Given the description of an element on the screen output the (x, y) to click on. 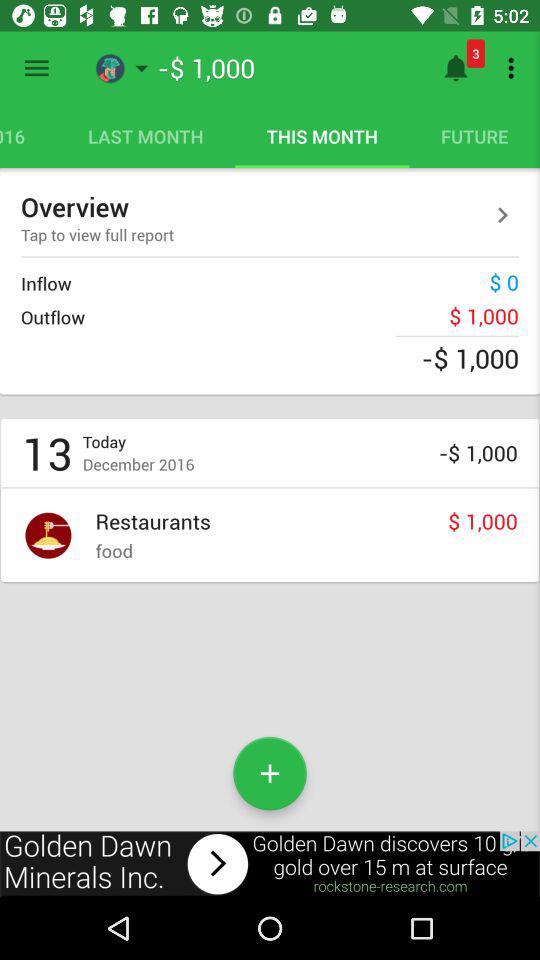
menu options to select (36, 68)
